Given the description of an element on the screen output the (x, y) to click on. 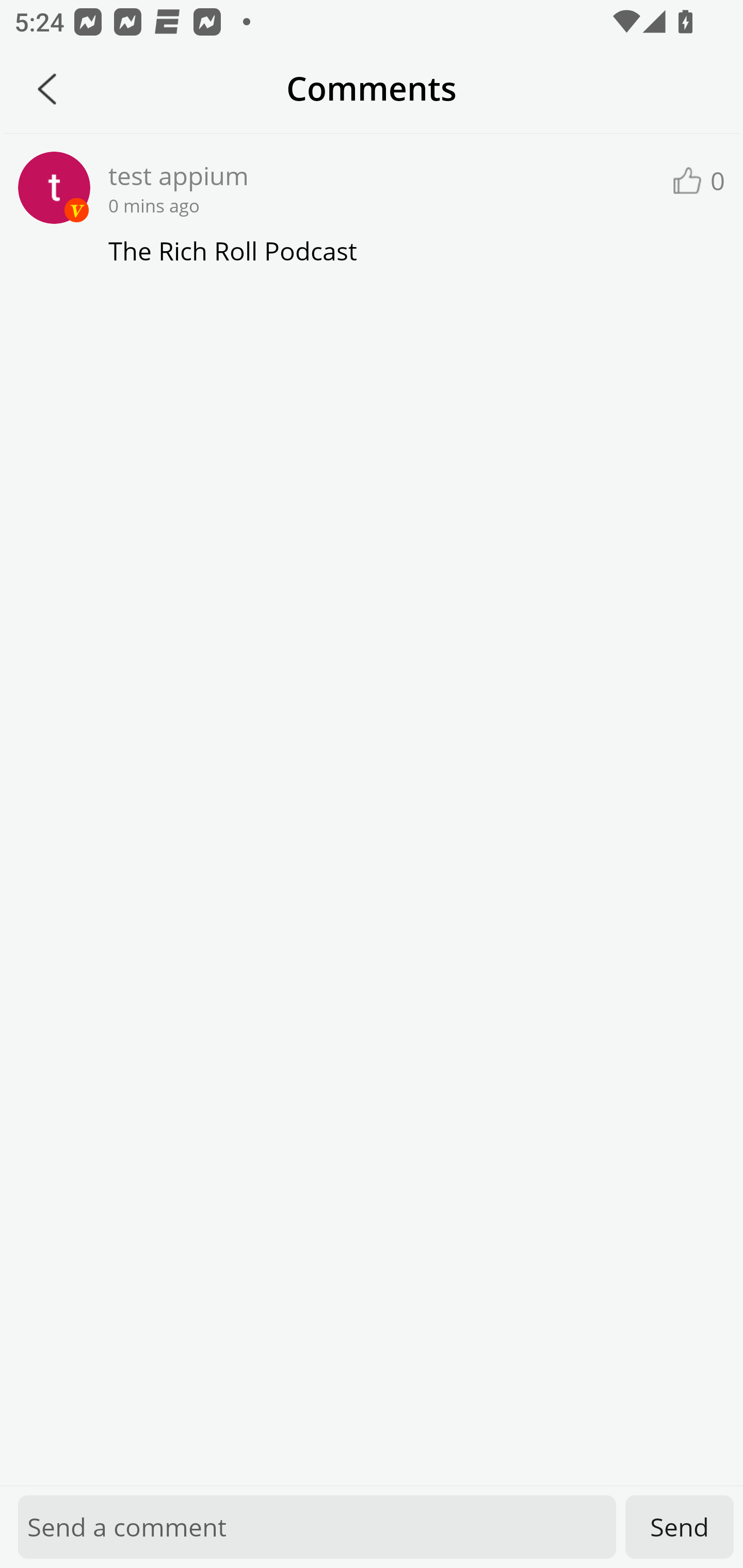
Back (46, 88)
Send a comment (316, 1526)
Send (679, 1526)
